Given the description of an element on the screen output the (x, y) to click on. 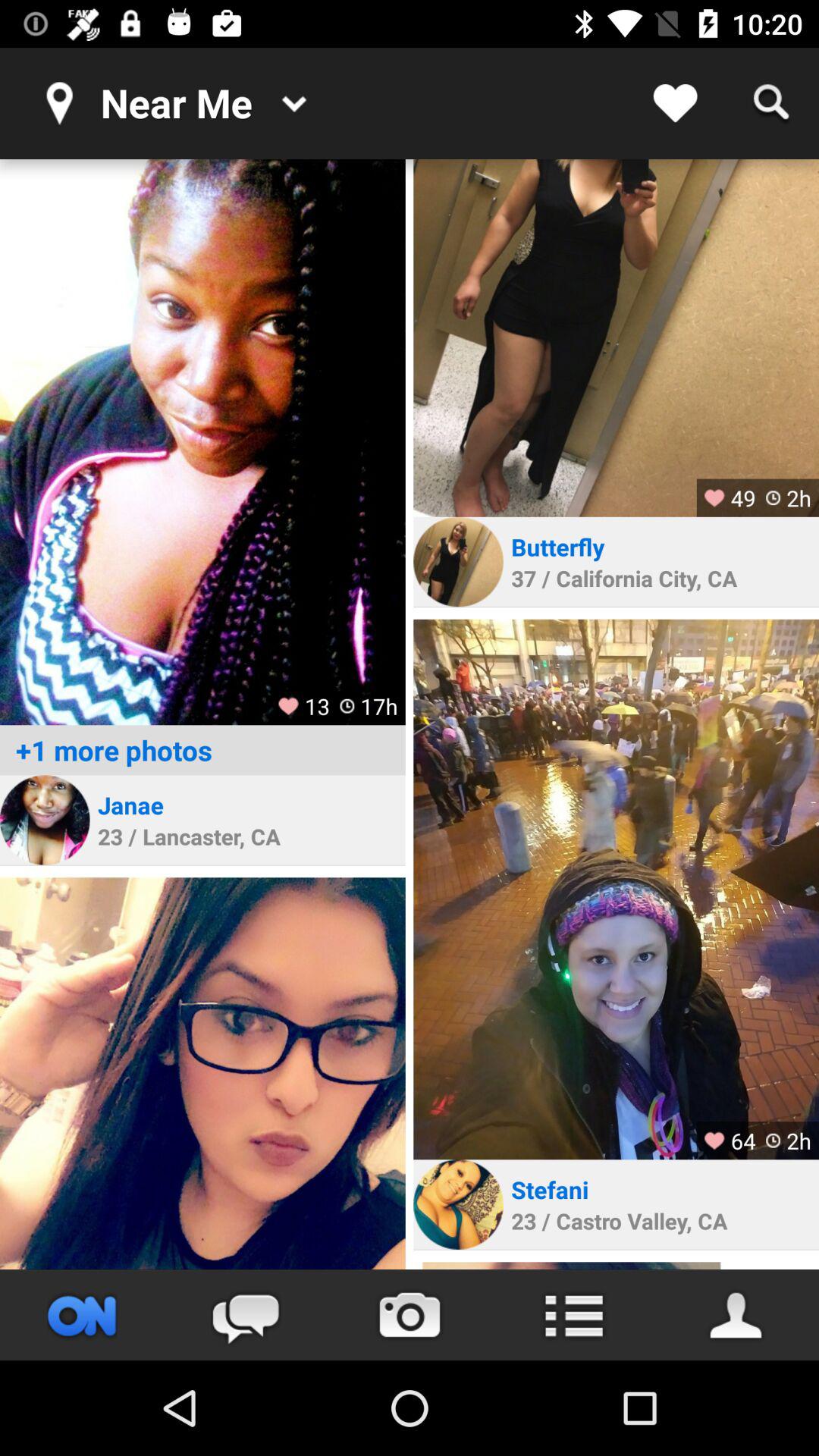
turn on the butterfly  item (560, 546)
